Given the description of an element on the screen output the (x, y) to click on. 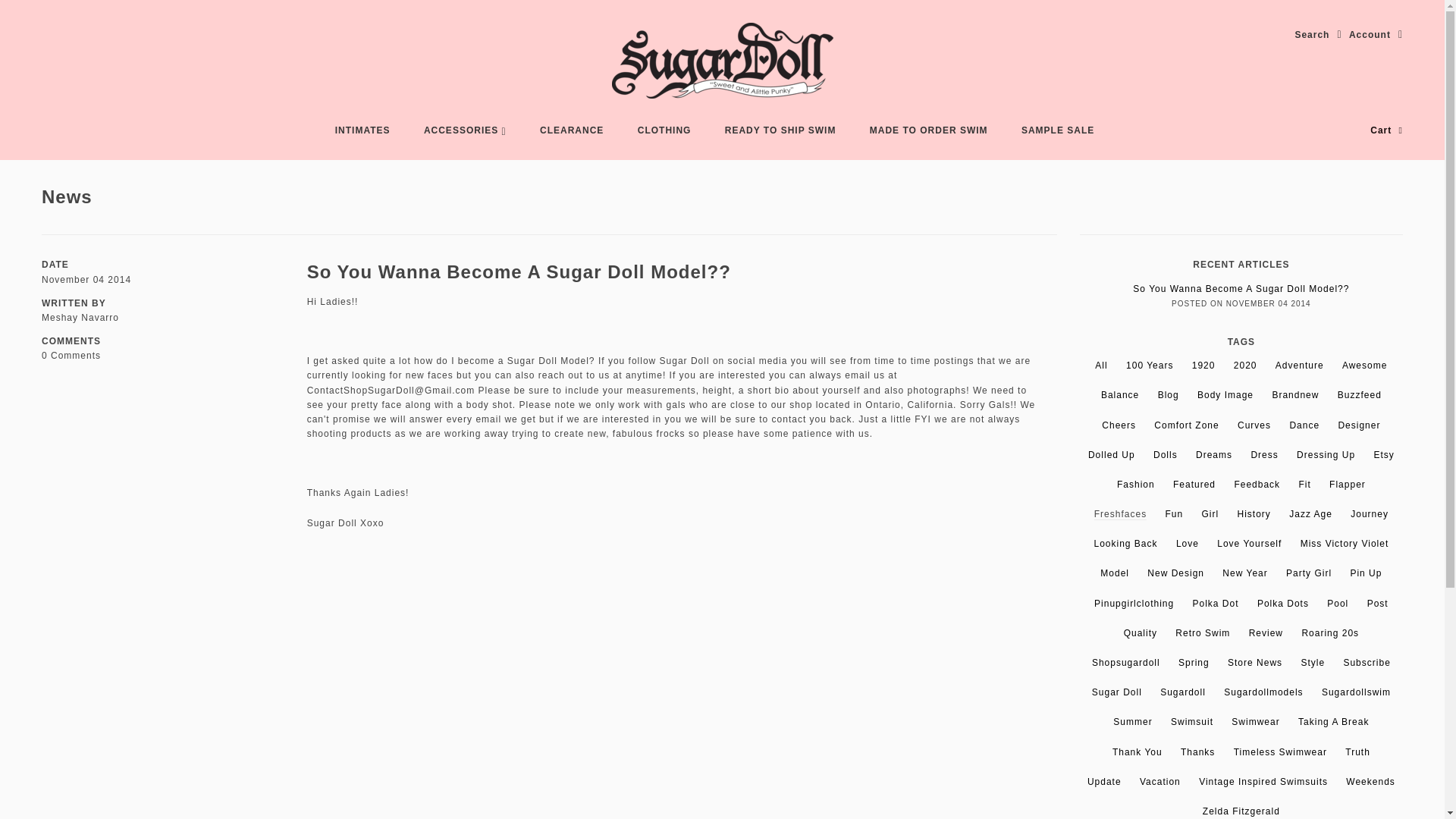
SAMPLE SALE (1057, 130)
100 Years (1149, 365)
So You Wanna Become A Sugar Doll Model?? (518, 271)
Narrow search to articles also having tag balance (1119, 394)
Narrow search to articles also having tag body image (1224, 394)
Narrow search to articles also having tag blog (1168, 394)
Narrow search to articles also having tag adventure (1299, 365)
Narrow search to articles also having tag 100 years (1149, 365)
CLEARANCE (571, 130)
INTIMATES (363, 130)
Narrow search to articles also having tag cheers (1118, 425)
Narrow search to articles also having tag brandnew (1295, 394)
CLOTHING (664, 130)
Cart (1386, 130)
Narrow search to articles also having tag buzzfeed (1359, 394)
